Given the description of an element on the screen output the (x, y) to click on. 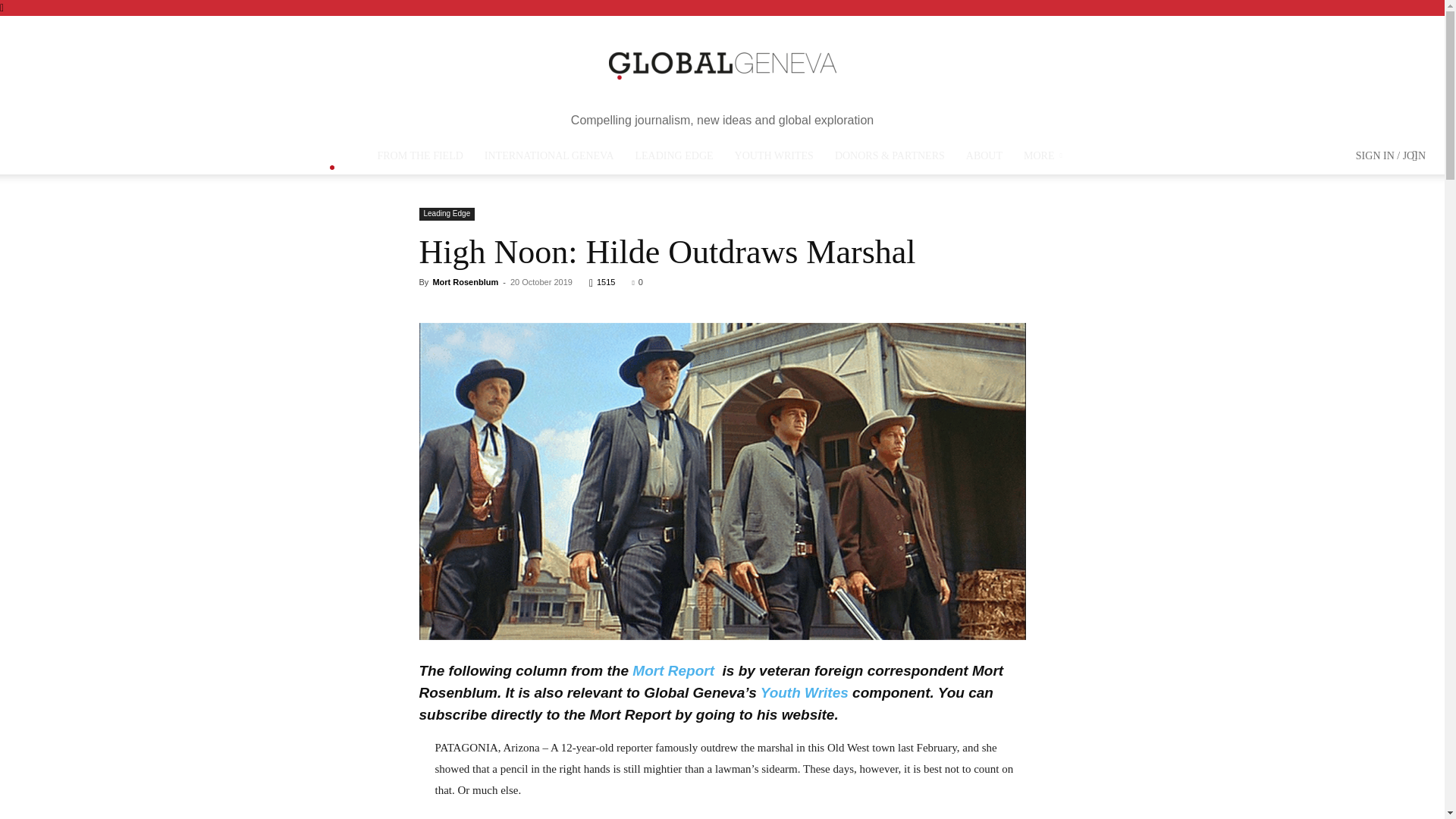
ABOUT (984, 156)
LEADING EDGE (673, 156)
INTERNATIONAL GENEVA (549, 156)
MORE (1045, 156)
FROM THE FIELD (420, 156)
YOUTH WRITES (773, 156)
SMALL LOGO (332, 157)
topFacebookLike (430, 309)
